Given the description of an element on the screen output the (x, y) to click on. 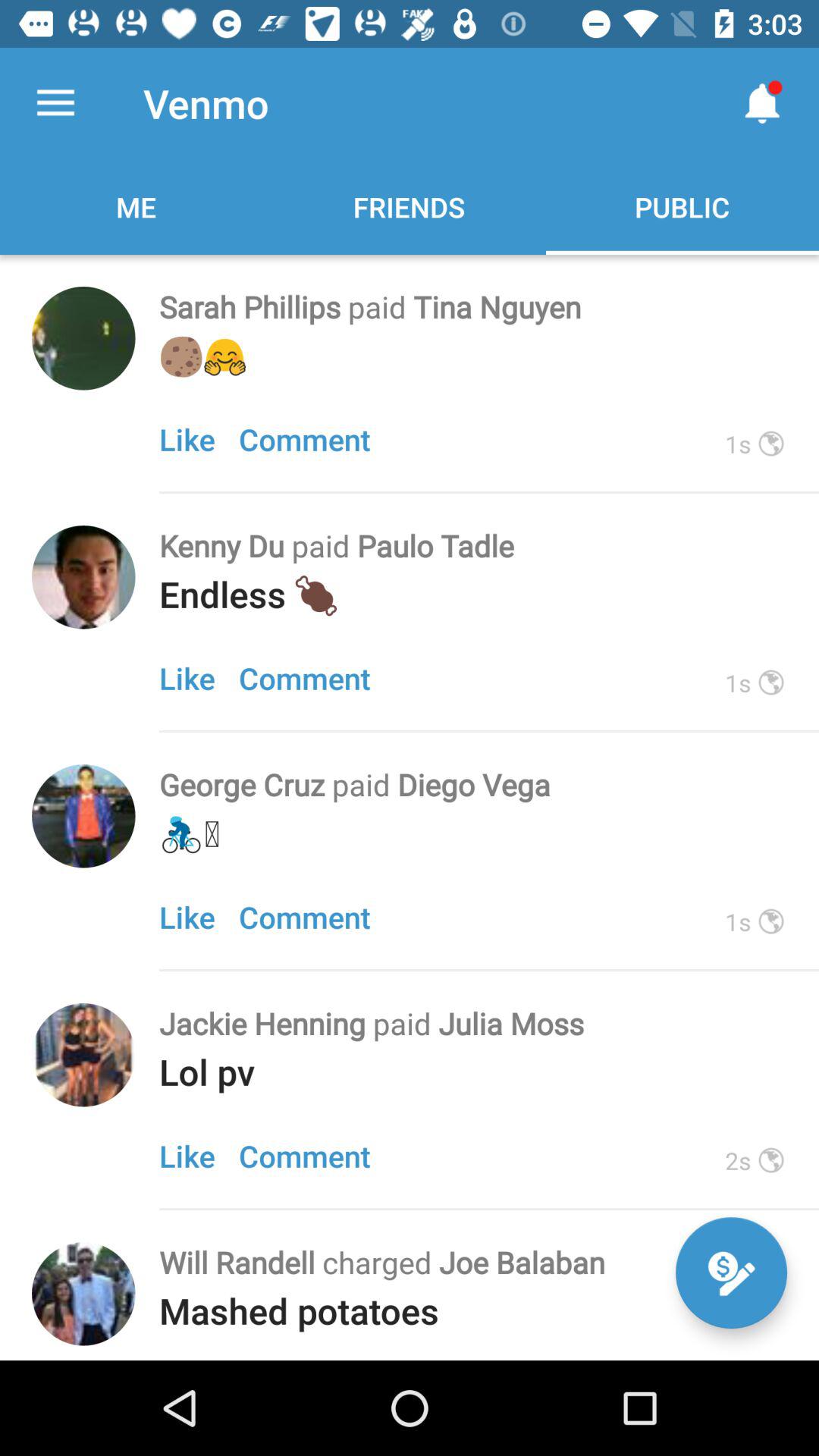
person avatar (83, 1054)
